Given the description of an element on the screen output the (x, y) to click on. 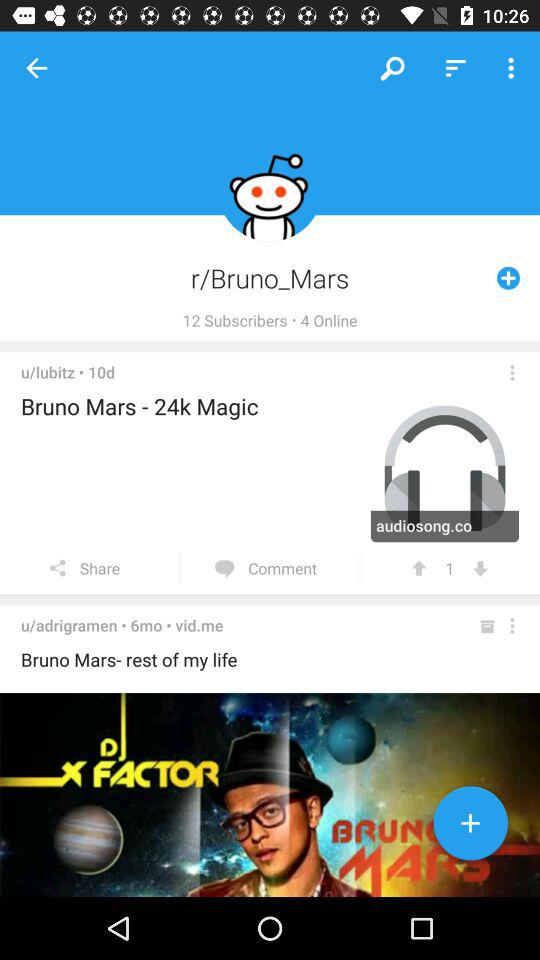
choose the item above r/bruno_mars (455, 67)
